Given the description of an element on the screen output the (x, y) to click on. 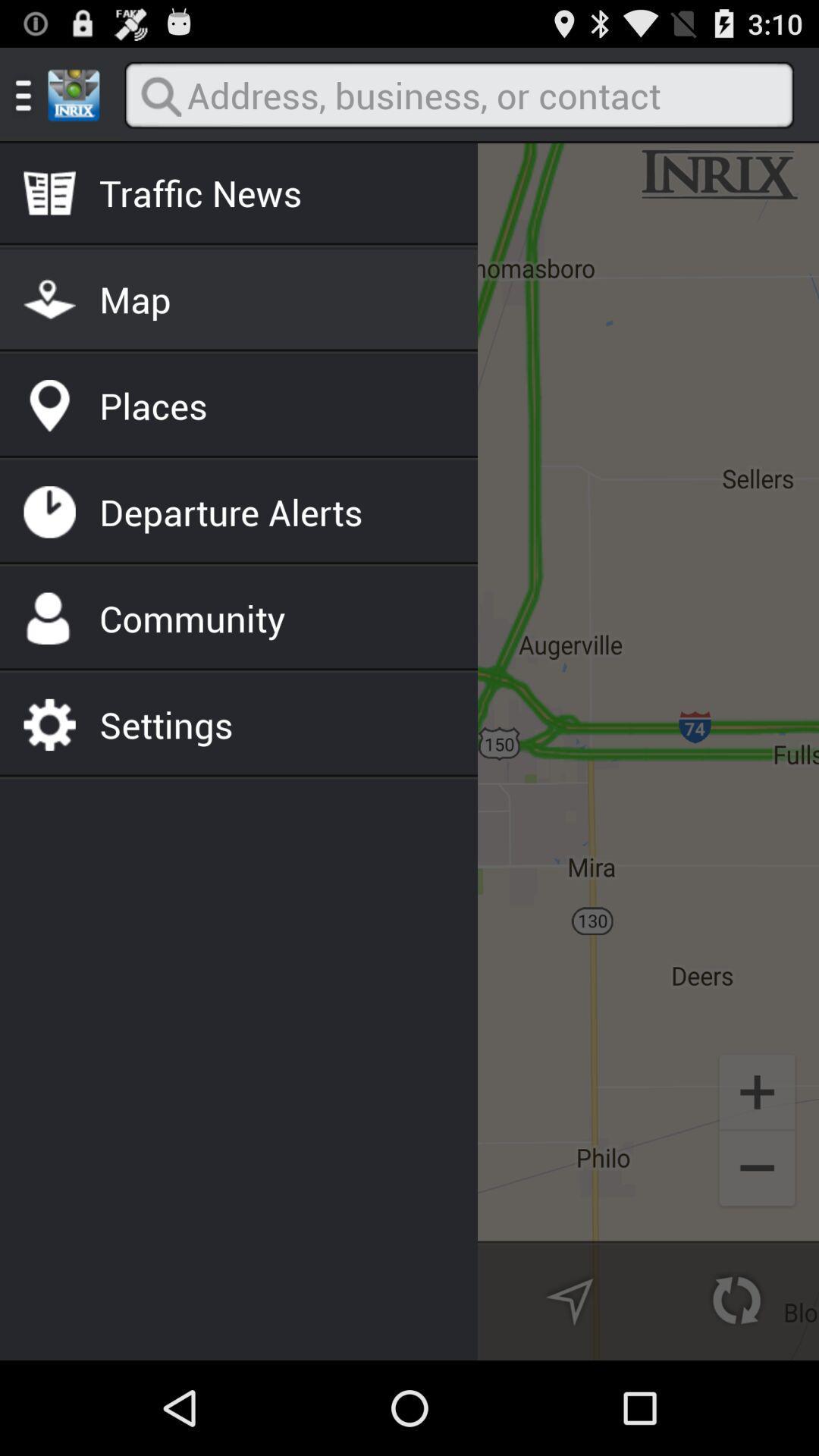
type the details (459, 94)
